Given the description of an element on the screen output the (x, y) to click on. 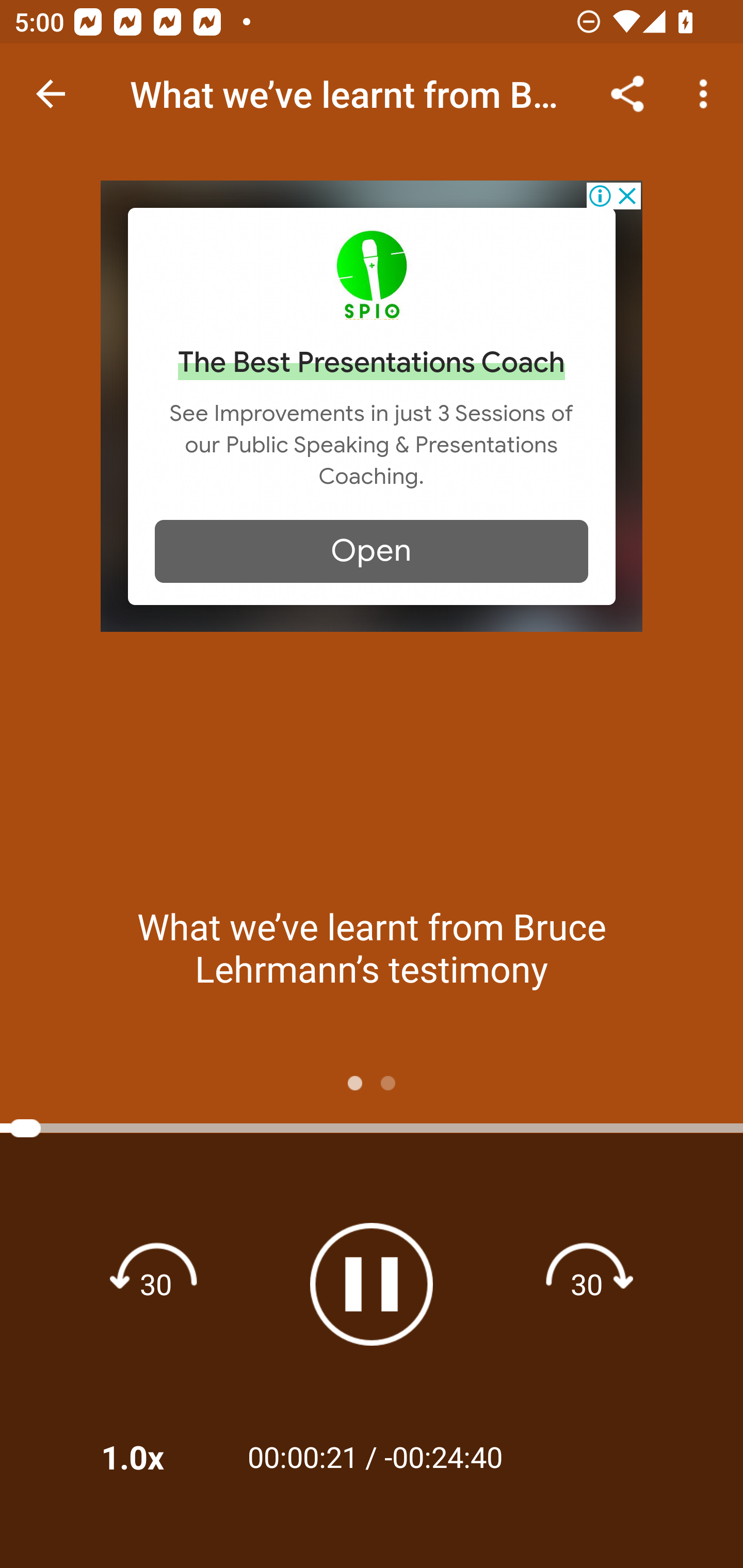
Navigate up (50, 93)
Share... (626, 93)
More options (706, 93)
www.spio (371, 274)
The Best Presentations Coach (371, 362)
Open (371, 550)
Pause (371, 1284)
Rewind (155, 1282)
Fast forward (586, 1282)
1.0x Playback Speeds (158, 1456)
-00:24:40 (443, 1455)
